Given the description of an element on the screen output the (x, y) to click on. 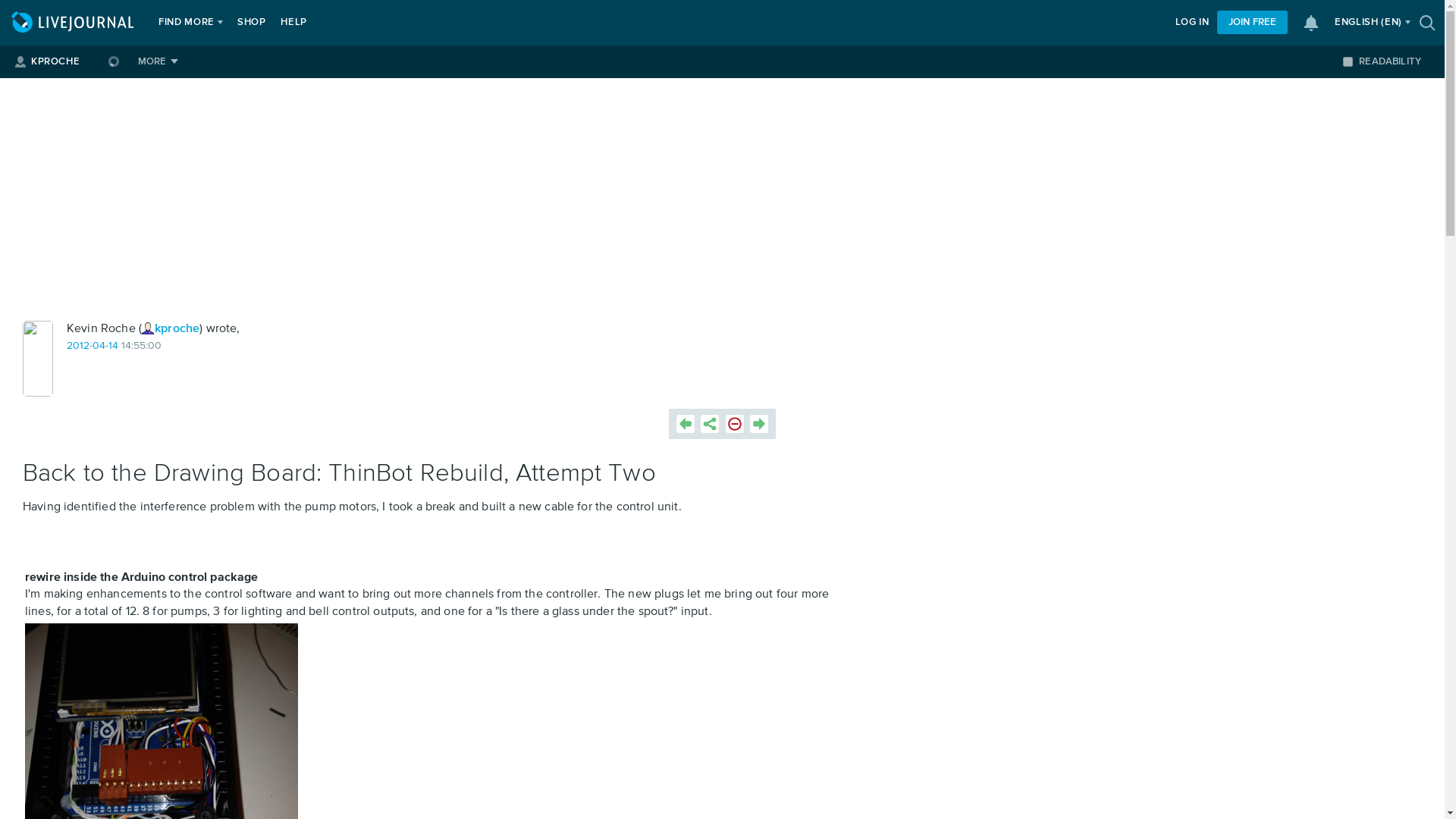
HELP (293, 22)
SHOP (251, 22)
LOG IN (1192, 22)
KPROCHE (54, 61)
MORE (158, 61)
FIND MORE (186, 22)
LIVEJOURNAL (73, 22)
on (1347, 61)
JOIN FREE (1252, 22)
Previous (685, 423)
